Given the description of an element on the screen output the (x, y) to click on. 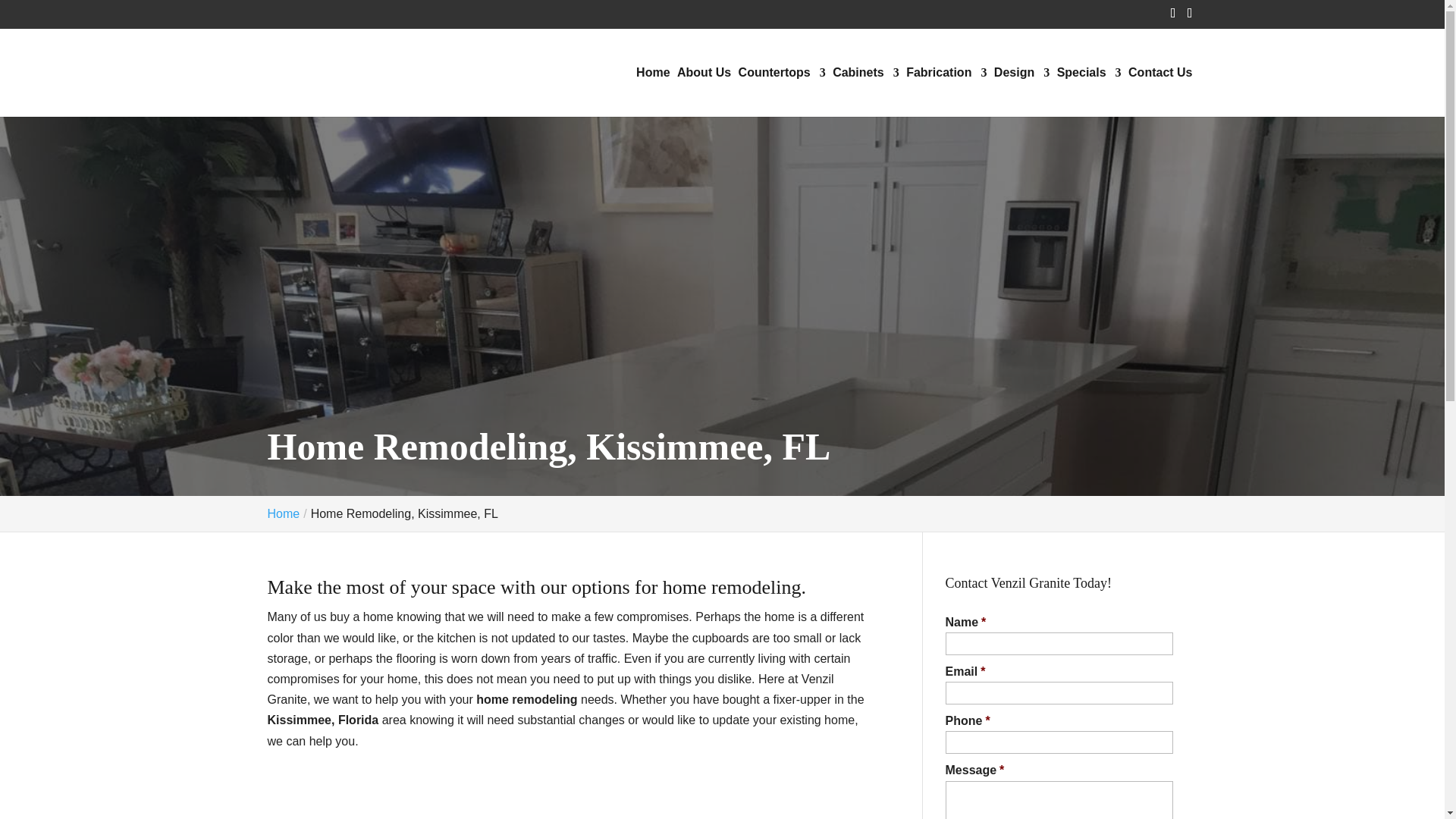
Home (282, 513)
Cabinets (865, 91)
Specials (1089, 91)
Go to Venzil Granite. (282, 513)
Countertops (781, 91)
Design (1021, 91)
Fabrication (946, 91)
About Us (703, 91)
Contact Us (1160, 91)
